Given the description of an element on the screen output the (x, y) to click on. 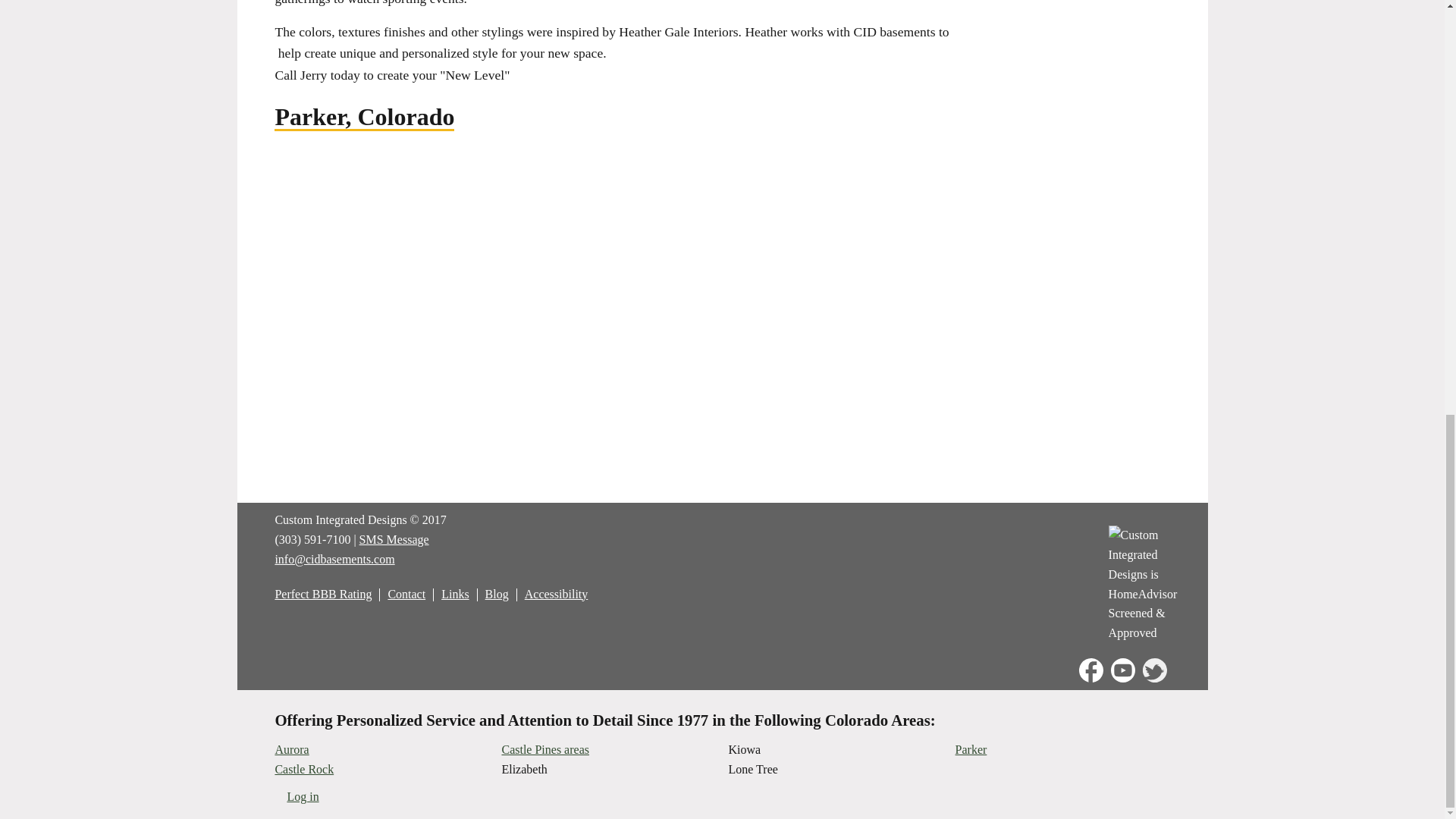
Aurora (291, 748)
Contact (406, 594)
Links (454, 594)
Perfect BBB Rating (323, 594)
Blog (496, 594)
Castle Rock (304, 768)
Accessibility (556, 594)
Castle Pines areas (544, 748)
Parker (971, 748)
SMS Message (394, 539)
Log in (302, 796)
